Given the description of an element on the screen output the (x, y) to click on. 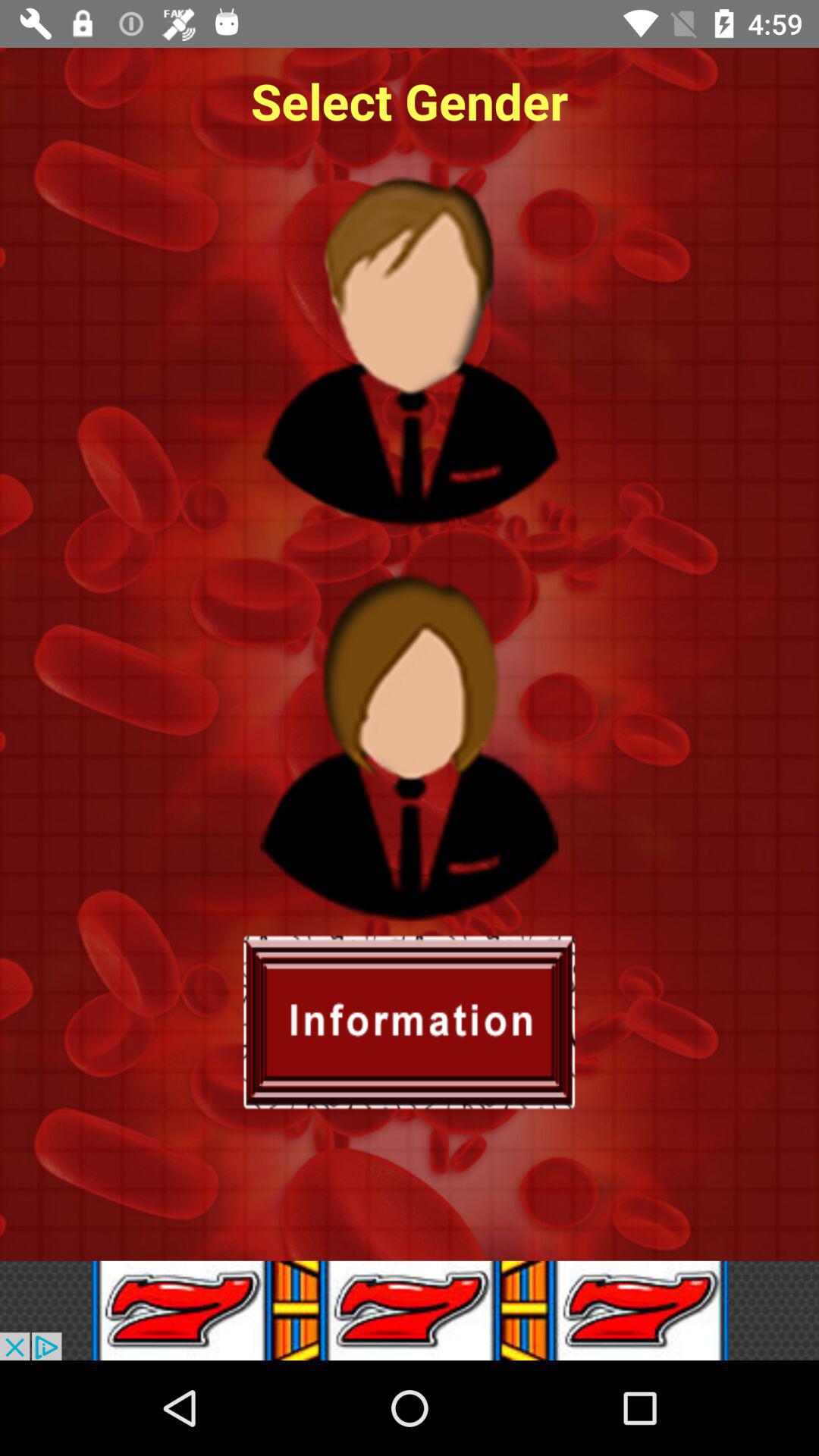
select female (408, 745)
